Given the description of an element on the screen output the (x, y) to click on. 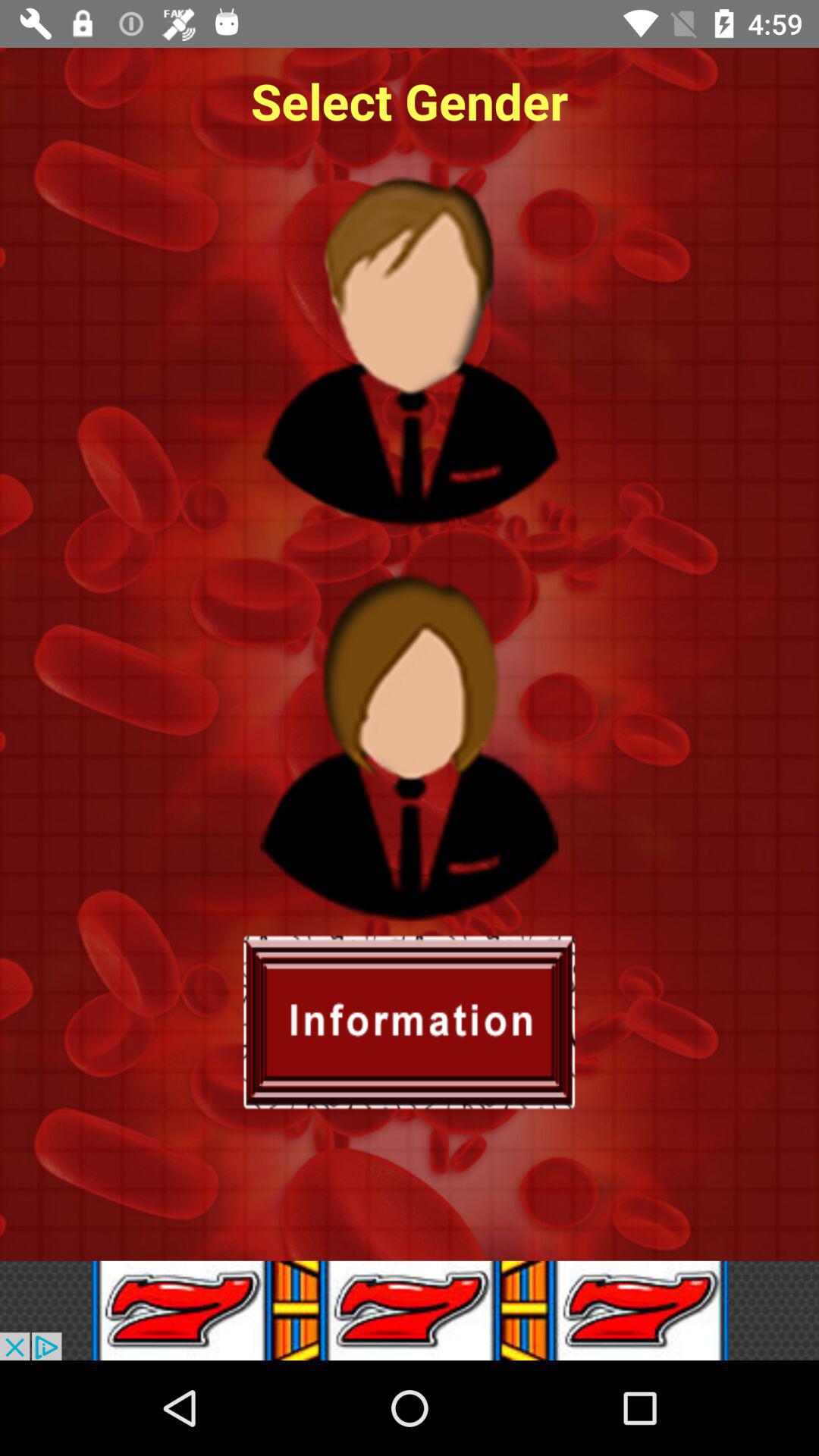
select female (408, 745)
